Given the description of an element on the screen output the (x, y) to click on. 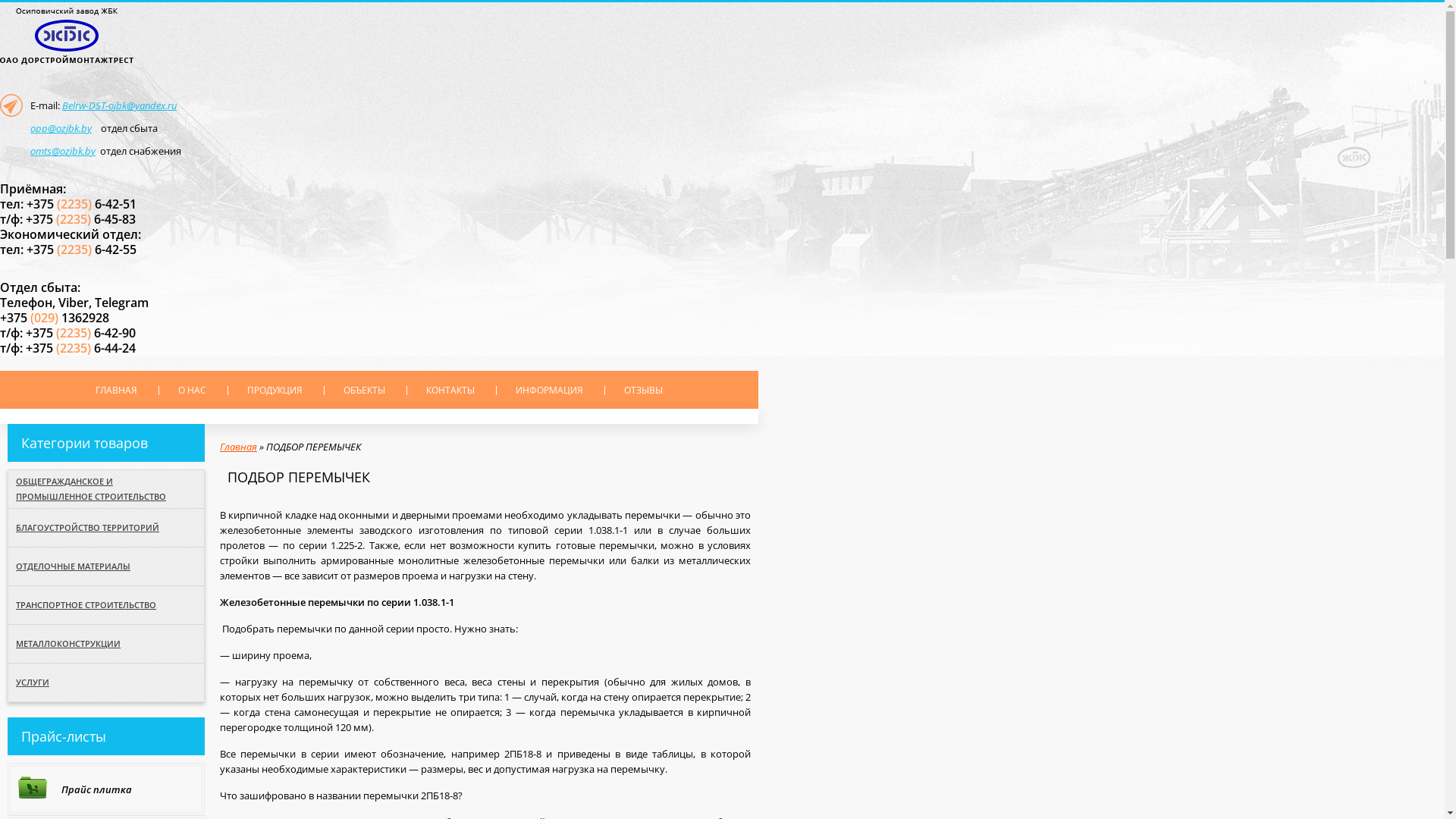
omts@ozjbk.by Element type: text (62, 150)
Belrw-DST-ojbk@yandex.ru Element type: text (119, 105)
opp@ozjbk.by Element type: text (60, 127)
